Given the description of an element on the screen output the (x, y) to click on. 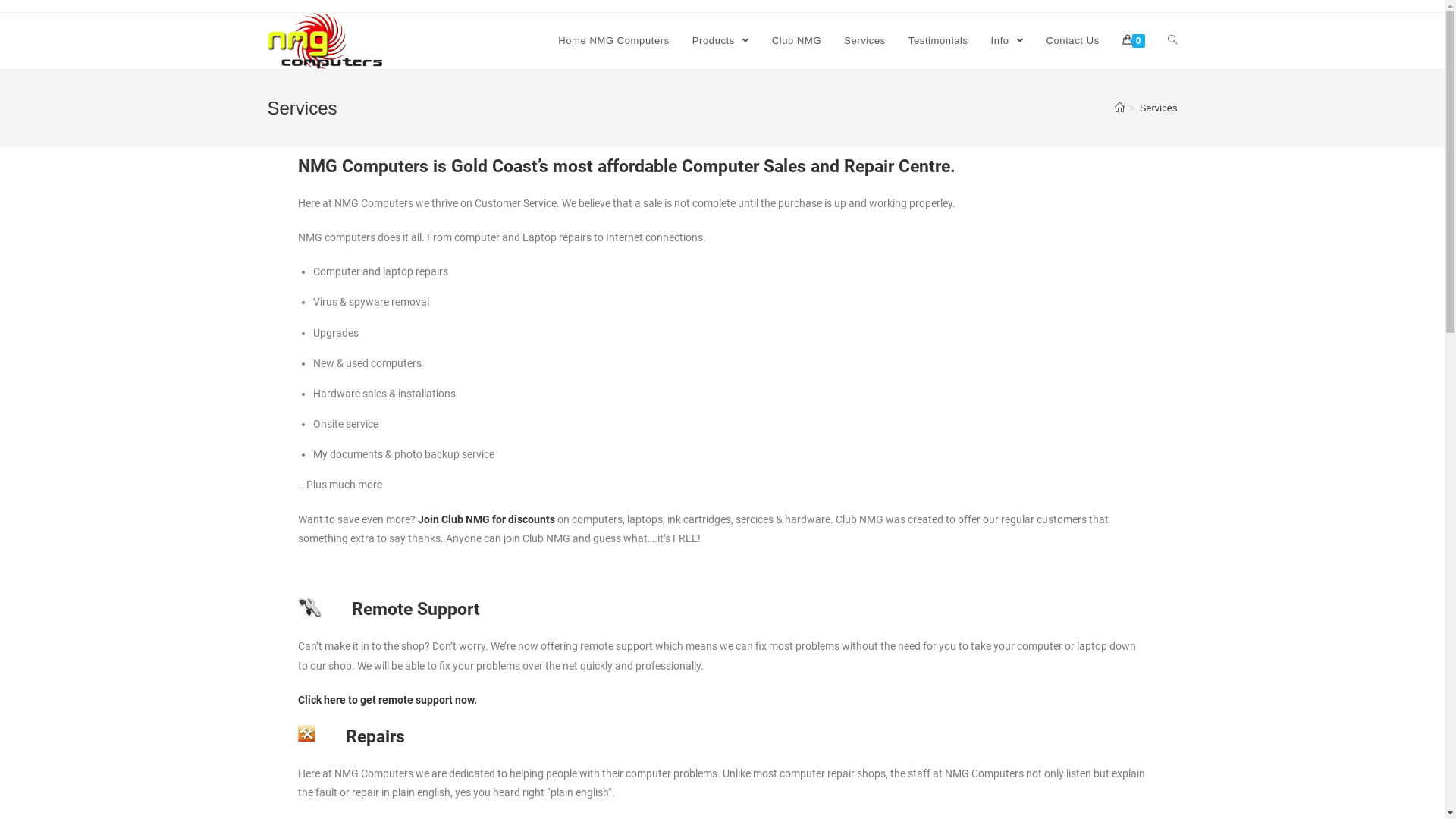
Services Element type: text (1158, 107)
0 Element type: text (1133, 40)
Click here to get remote support now. Element type: text (386, 699)
Services Element type: text (864, 40)
Home NMG Computers Element type: text (613, 40)
Testimonials Element type: text (938, 40)
Info Element type: text (1007, 40)
Club NMG Element type: text (796, 40)
Join Club NMG for discounts Element type: text (485, 519)
Contact Us Element type: text (1072, 40)
Products Element type: text (720, 40)
